Given the description of an element on the screen output the (x, y) to click on. 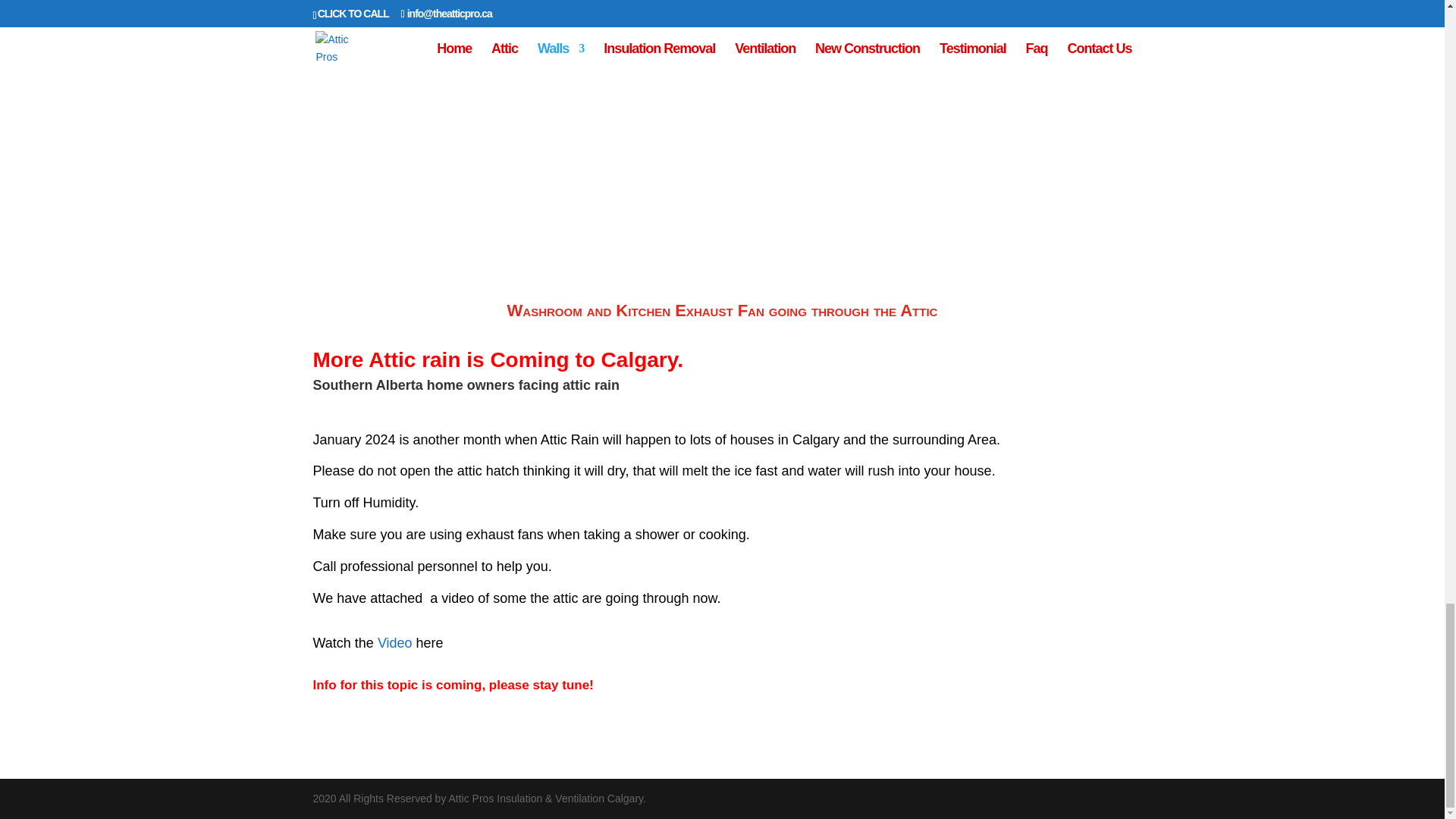
attic rain (591, 385)
Ice build up on the Isulation (505, 48)
Video (394, 642)
